Given the description of an element on the screen output the (x, y) to click on. 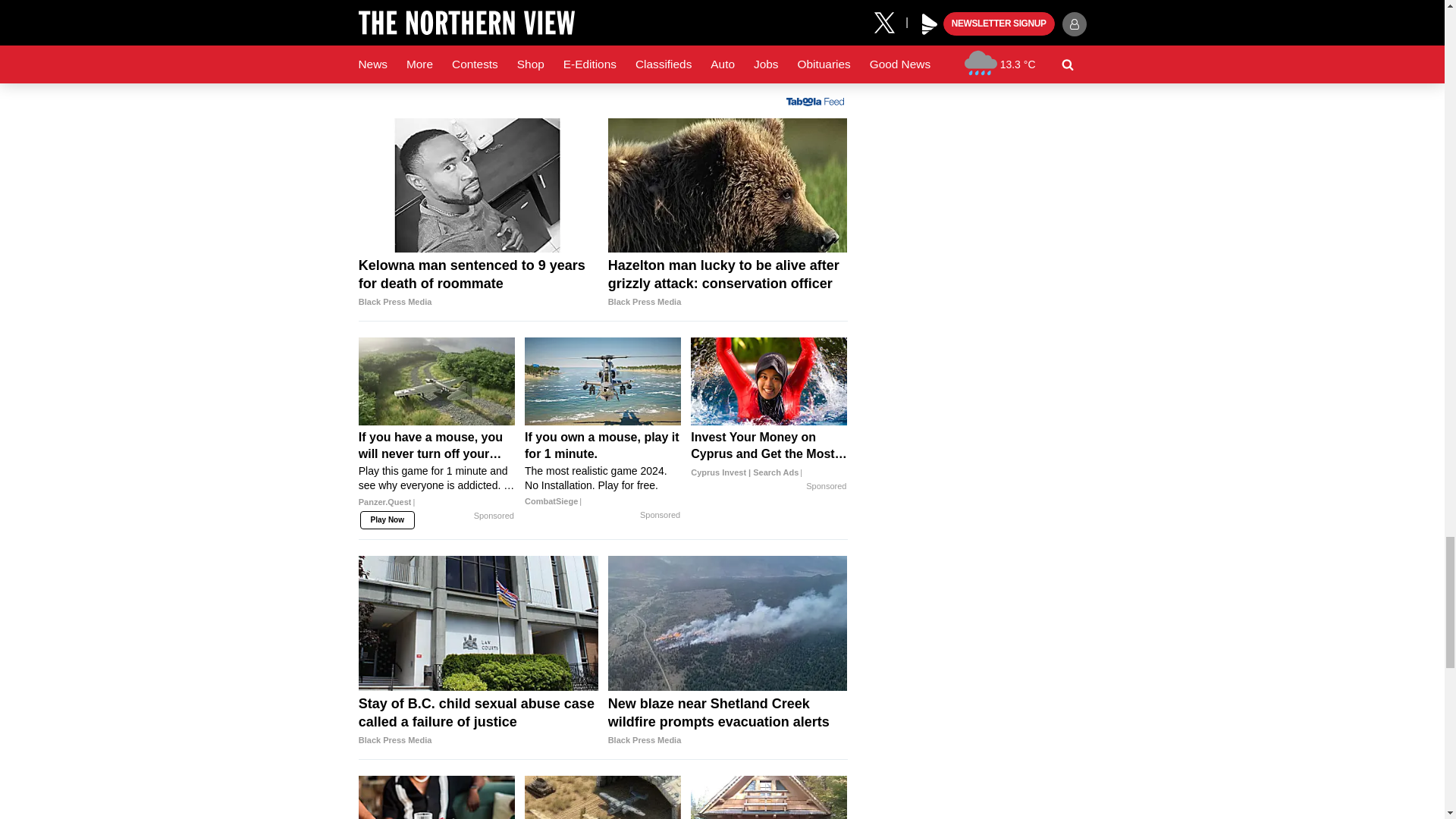
Show Comments (602, 51)
